Given the description of an element on the screen output the (x, y) to click on. 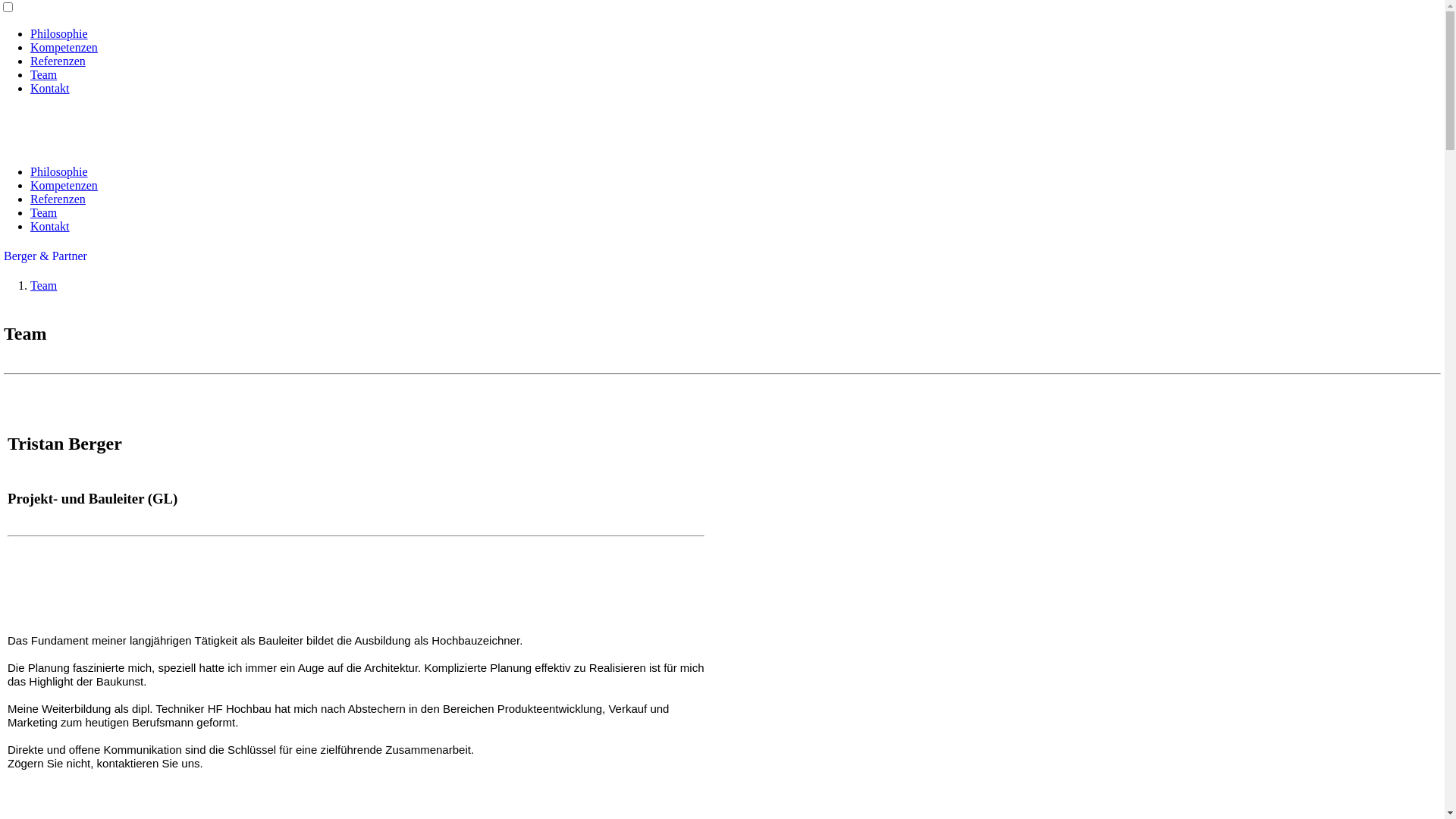
Referenzen Element type: text (57, 198)
Team Element type: text (43, 212)
Philosophie Element type: text (58, 171)
Kontakt Element type: text (49, 225)
Referenzen Element type: text (57, 60)
Team Element type: text (43, 74)
Berger & Partner Element type: text (45, 255)
Kompetenzen Element type: text (63, 46)
Team Element type: text (43, 285)
Kompetenzen Element type: text (63, 184)
Kontakt Element type: text (49, 87)
Philosophie Element type: text (58, 33)
